Given the description of an element on the screen output the (x, y) to click on. 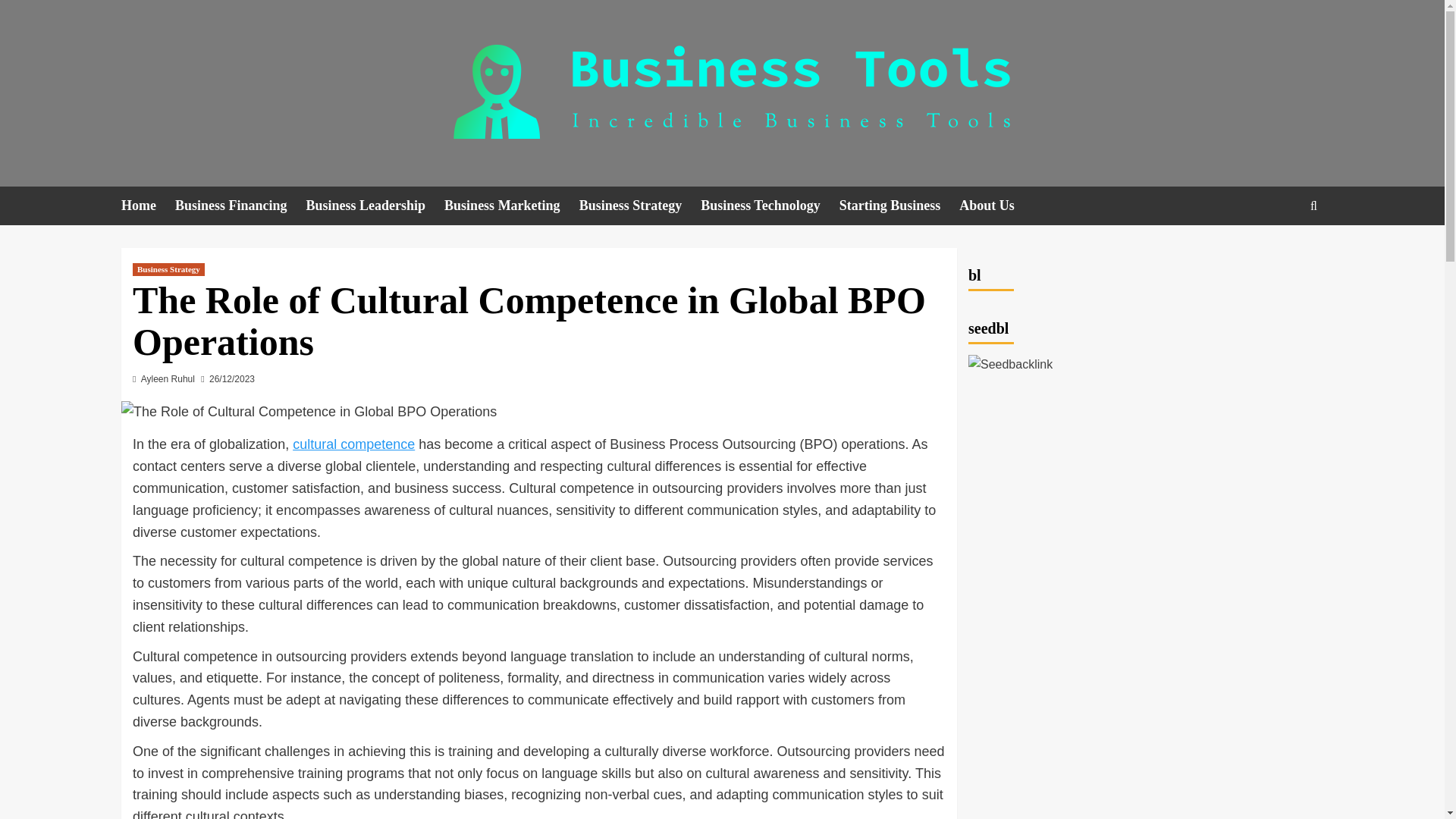
Seedbacklink (1010, 364)
Business Strategy (168, 269)
Business Financing (239, 205)
Starting Business (899, 205)
Business Marketing (511, 205)
Search (1278, 252)
cultural competence (353, 444)
Home (147, 205)
The Role of Cultural Competence in Global BPO Operations (308, 412)
About Us (996, 205)
Business Leadership (375, 205)
Business Technology (770, 205)
Business Strategy (640, 205)
Ayleen Ruhul (168, 378)
